Given the description of an element on the screen output the (x, y) to click on. 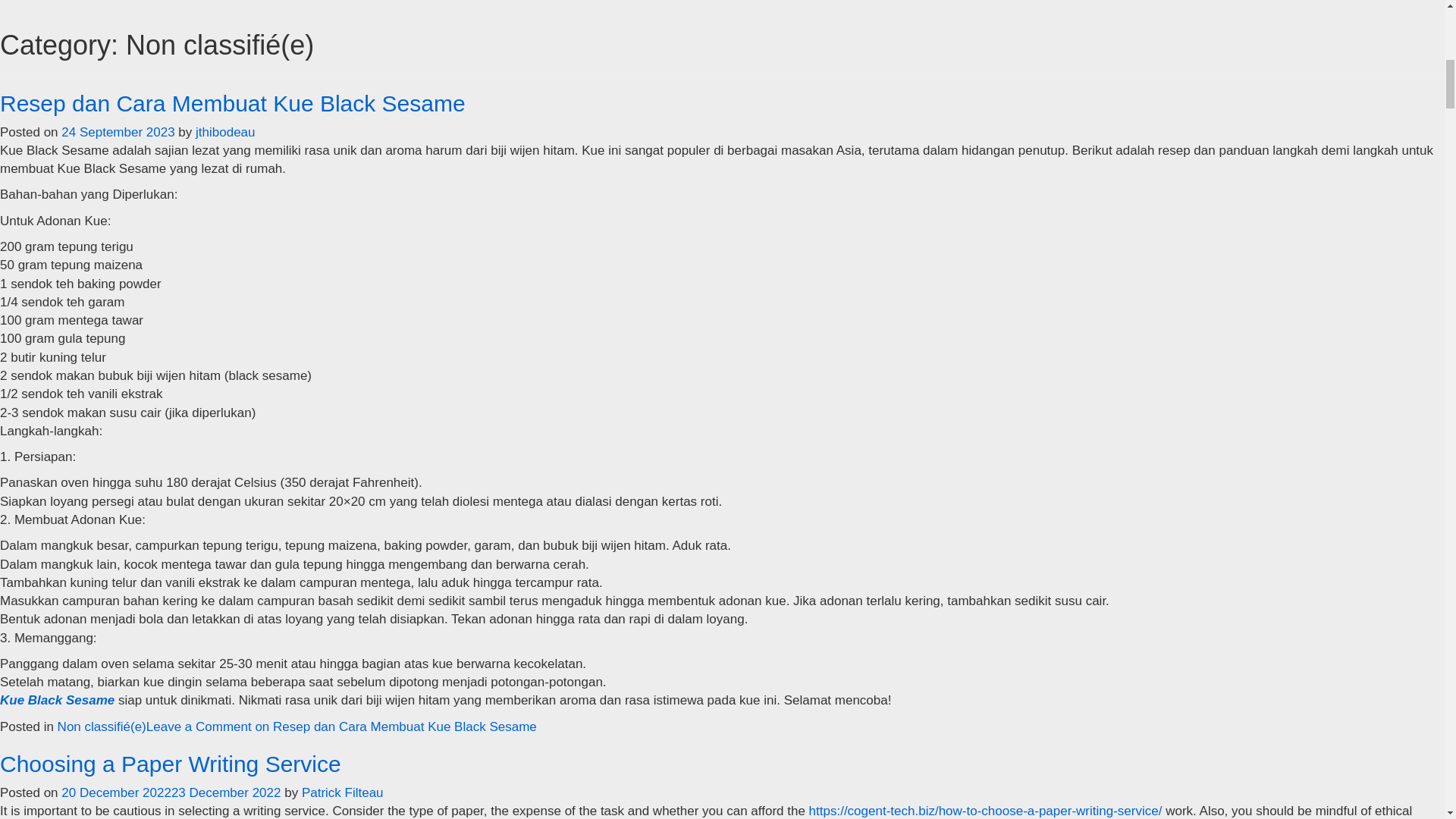
Leave a Comment on Resep dan Cara Membuat Kue Black Sesame (342, 726)
Choosing a Paper Writing Service (170, 763)
Resep dan Cara Membuat Kue Black Sesame (232, 103)
jthibodeau (224, 132)
24 September 2023 (117, 132)
Patrick Filteau (342, 792)
Kue Black Sesame (57, 699)
20 December 202223 December 2022 (171, 792)
